Given the description of an element on the screen output the (x, y) to click on. 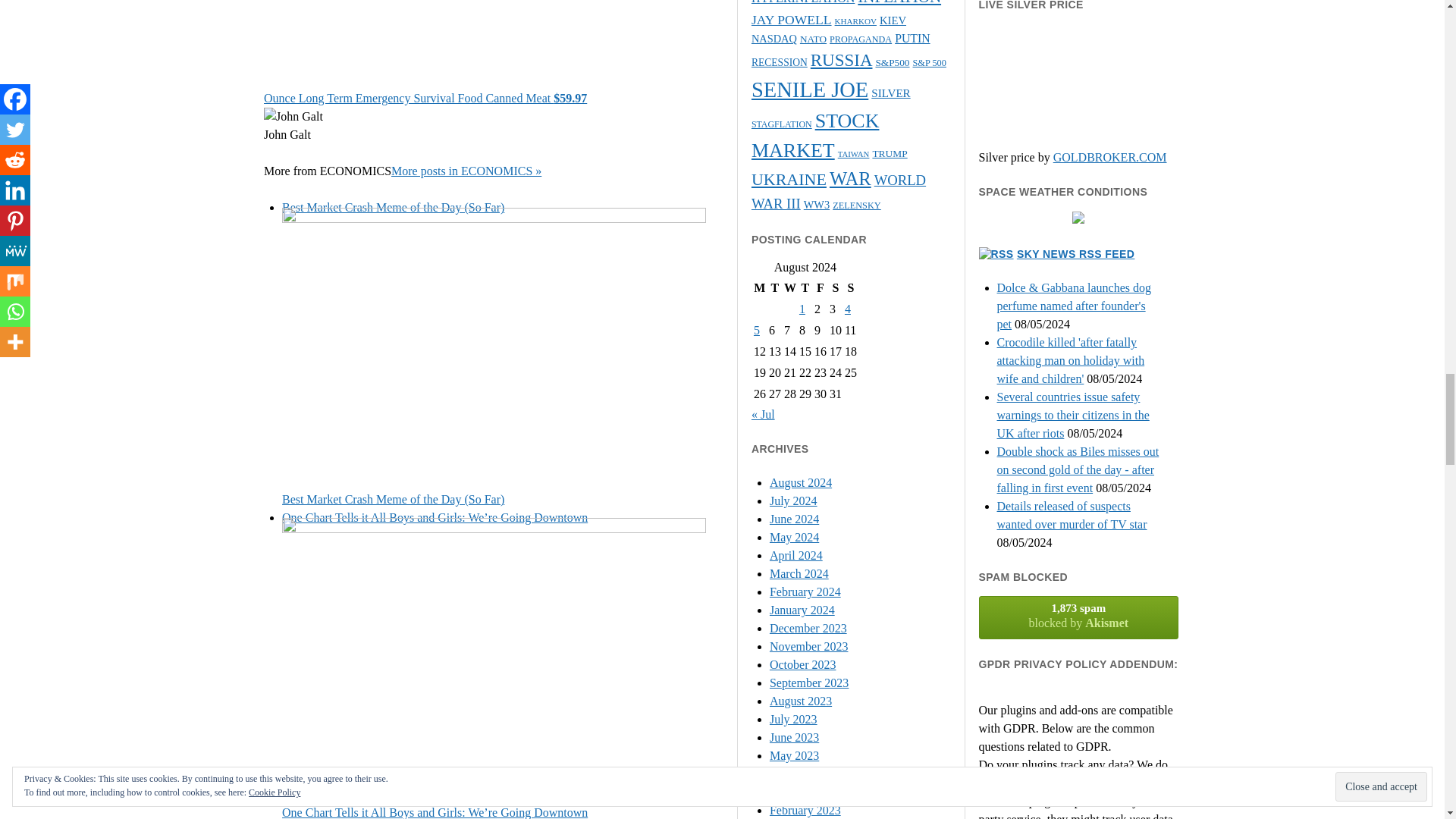
GOLDBROKER.COM (1109, 156)
SKY NEWS RSS FEED (1075, 254)
Click to add Solar-Terrestrial Data to your website! (1077, 219)
Details released of suspects wanted over murder of TV star (1072, 514)
